Given the description of an element on the screen output the (x, y) to click on. 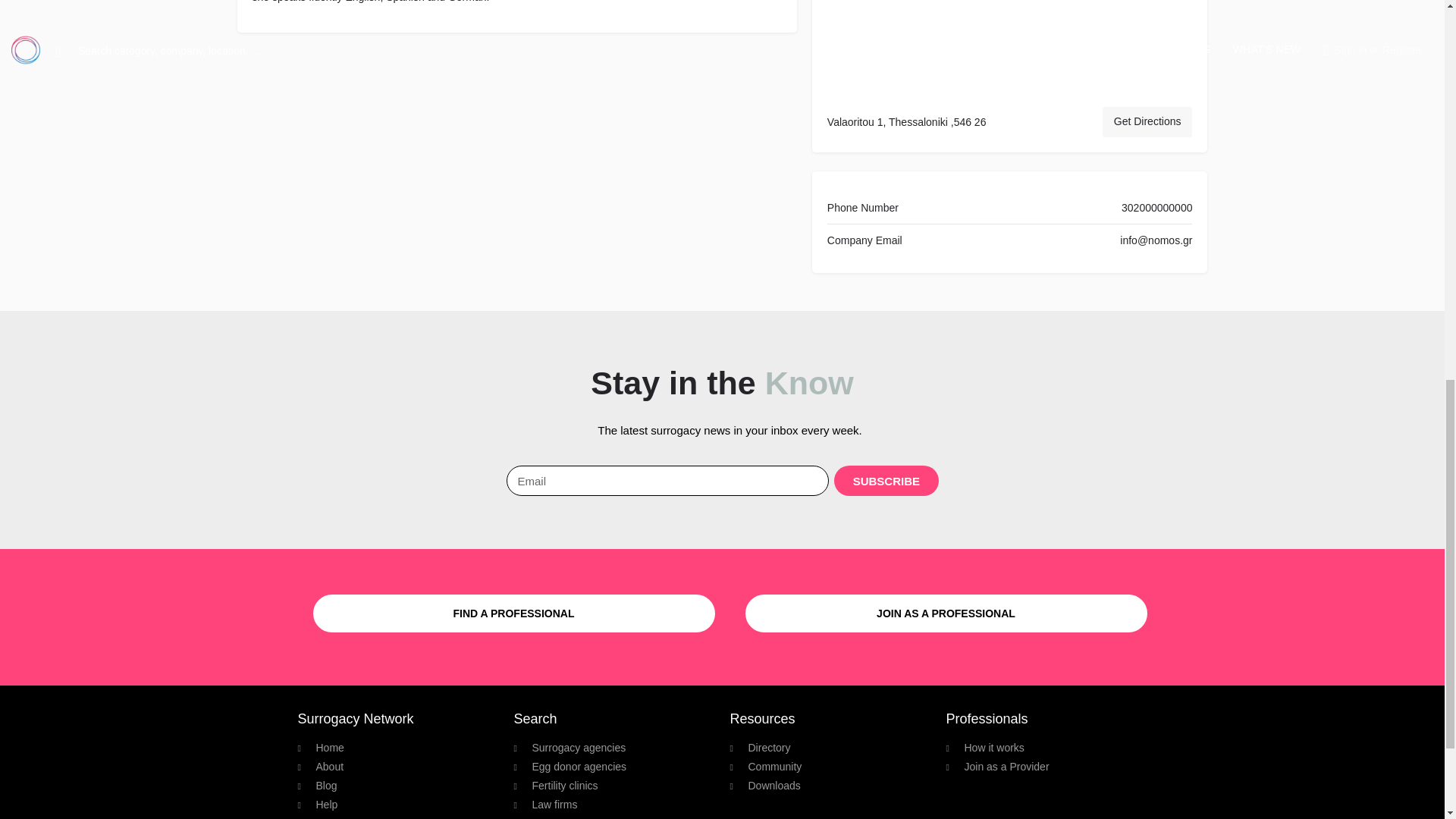
Get Directions (1147, 122)
